Given the description of an element on the screen output the (x, y) to click on. 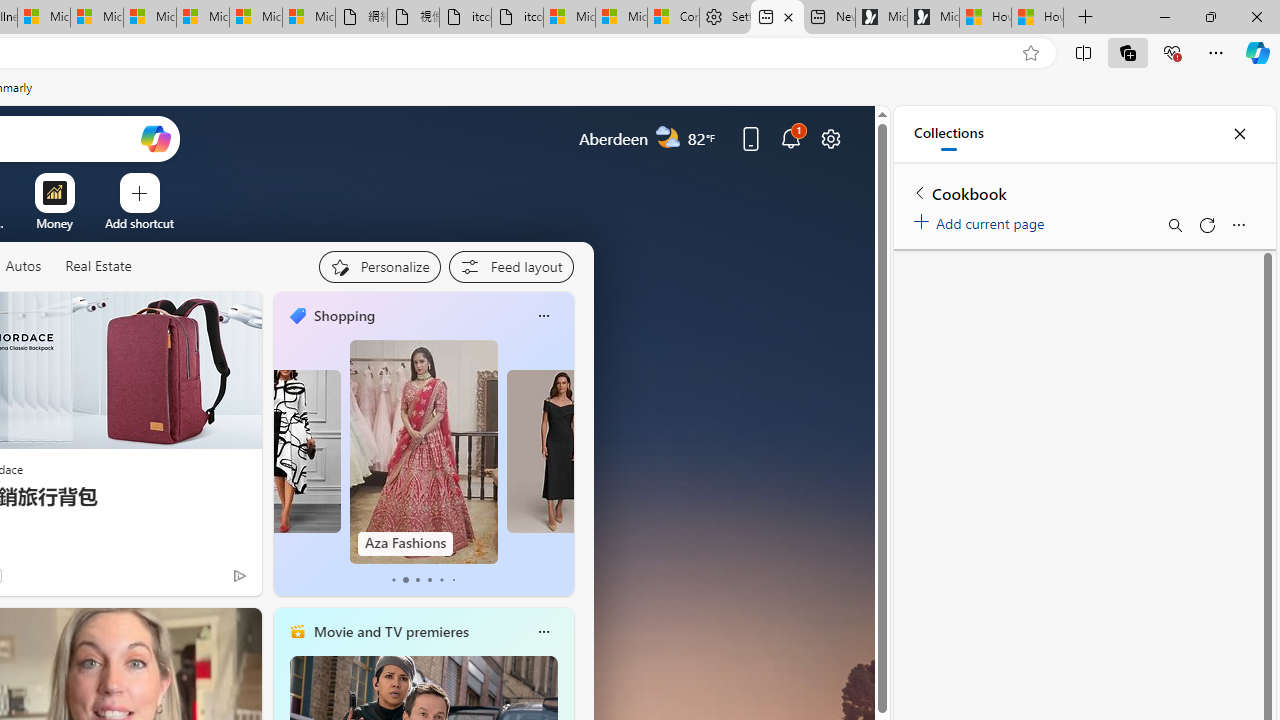
tab-1 (405, 579)
Personalize your feed" (379, 266)
Ad Choice (238, 575)
Movie and TV premieres (390, 631)
Page settings (831, 138)
itconcepthk.com/projector_solutions.mp4 (516, 17)
Autos (22, 265)
Money (53, 223)
